Given the description of an element on the screen output the (x, y) to click on. 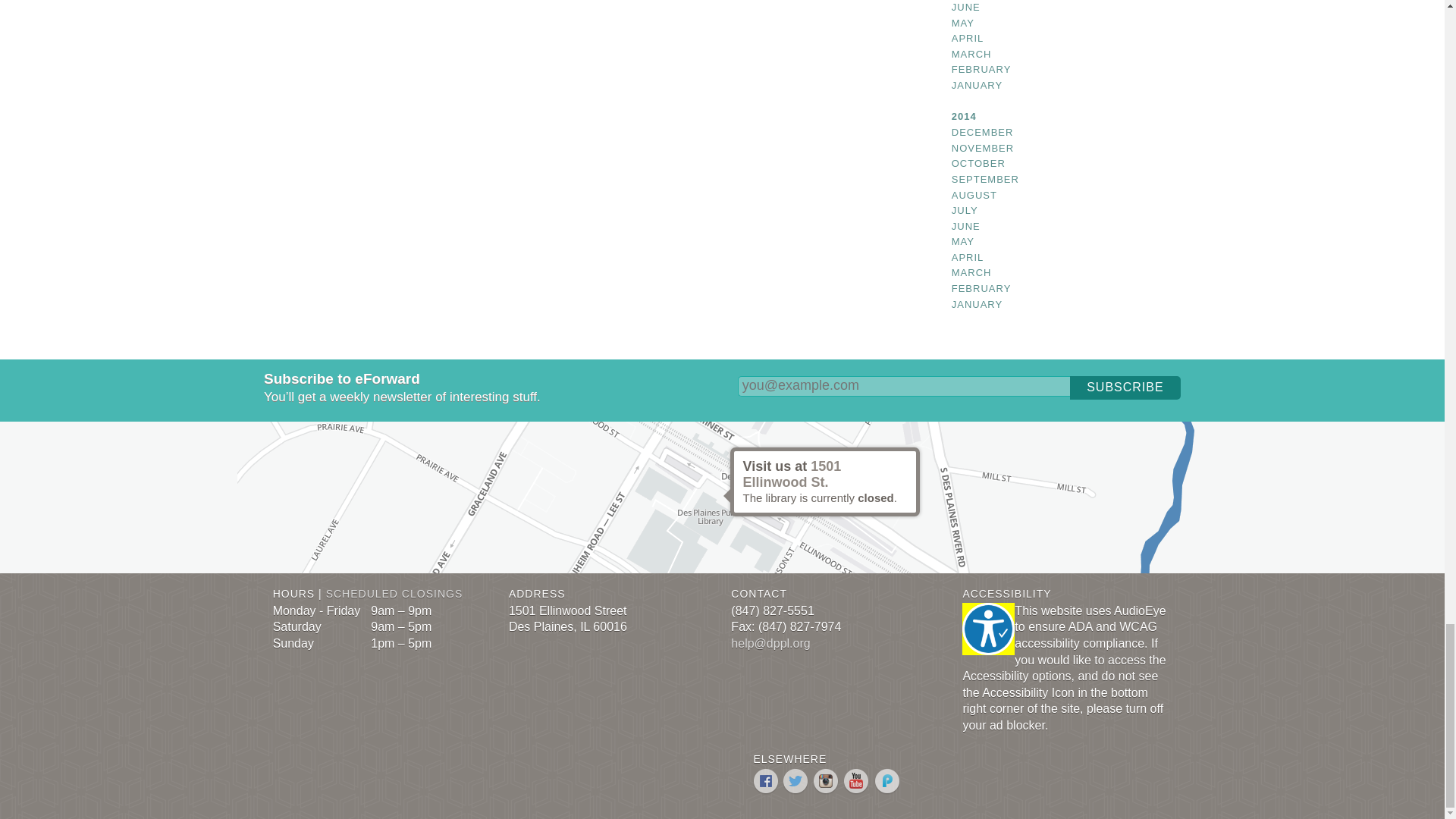
Subscribe (1125, 387)
